Given the description of an element on the screen output the (x, y) to click on. 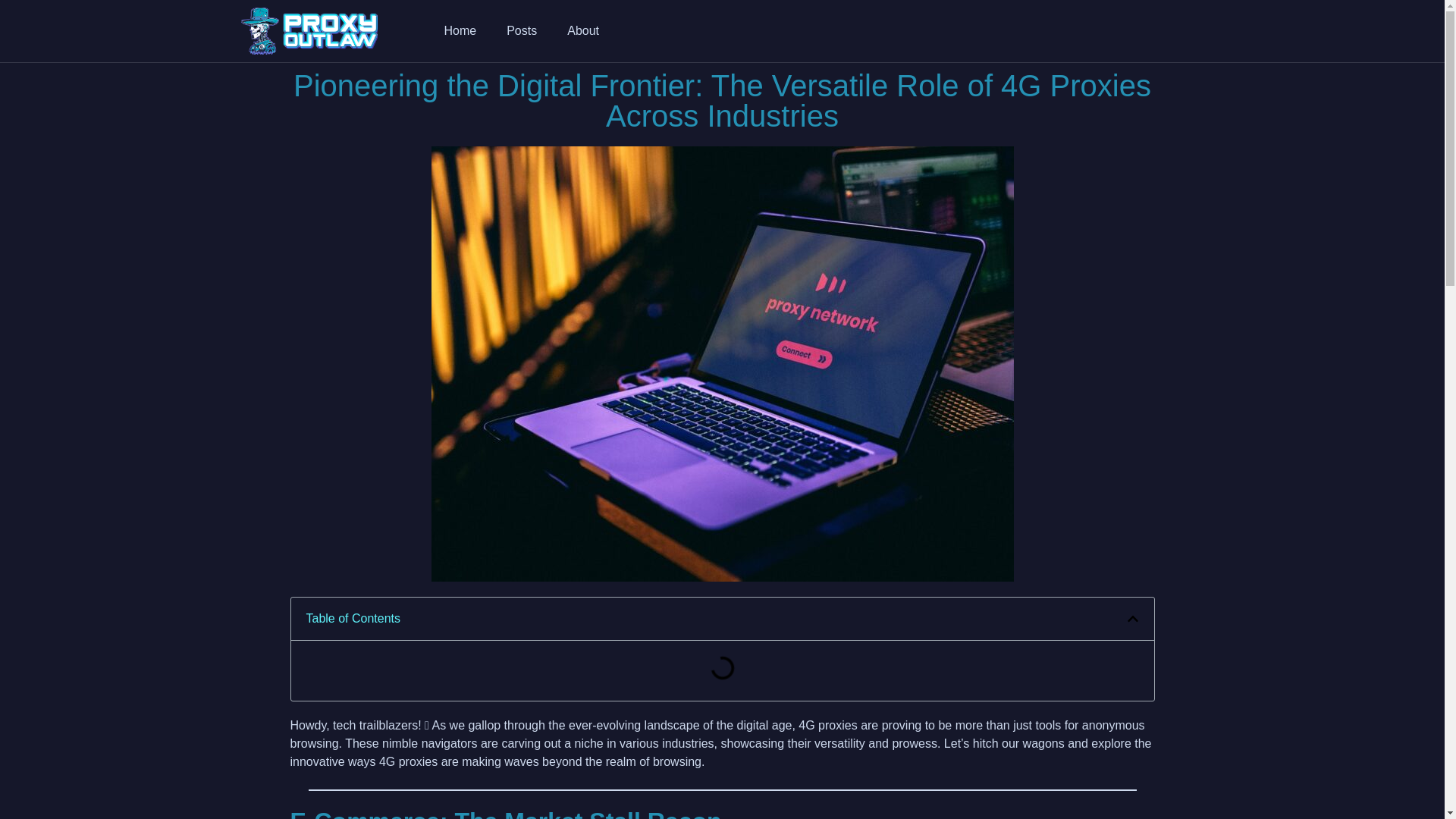
Home (460, 30)
About (582, 30)
Posts (521, 30)
